Given the description of an element on the screen output the (x, y) to click on. 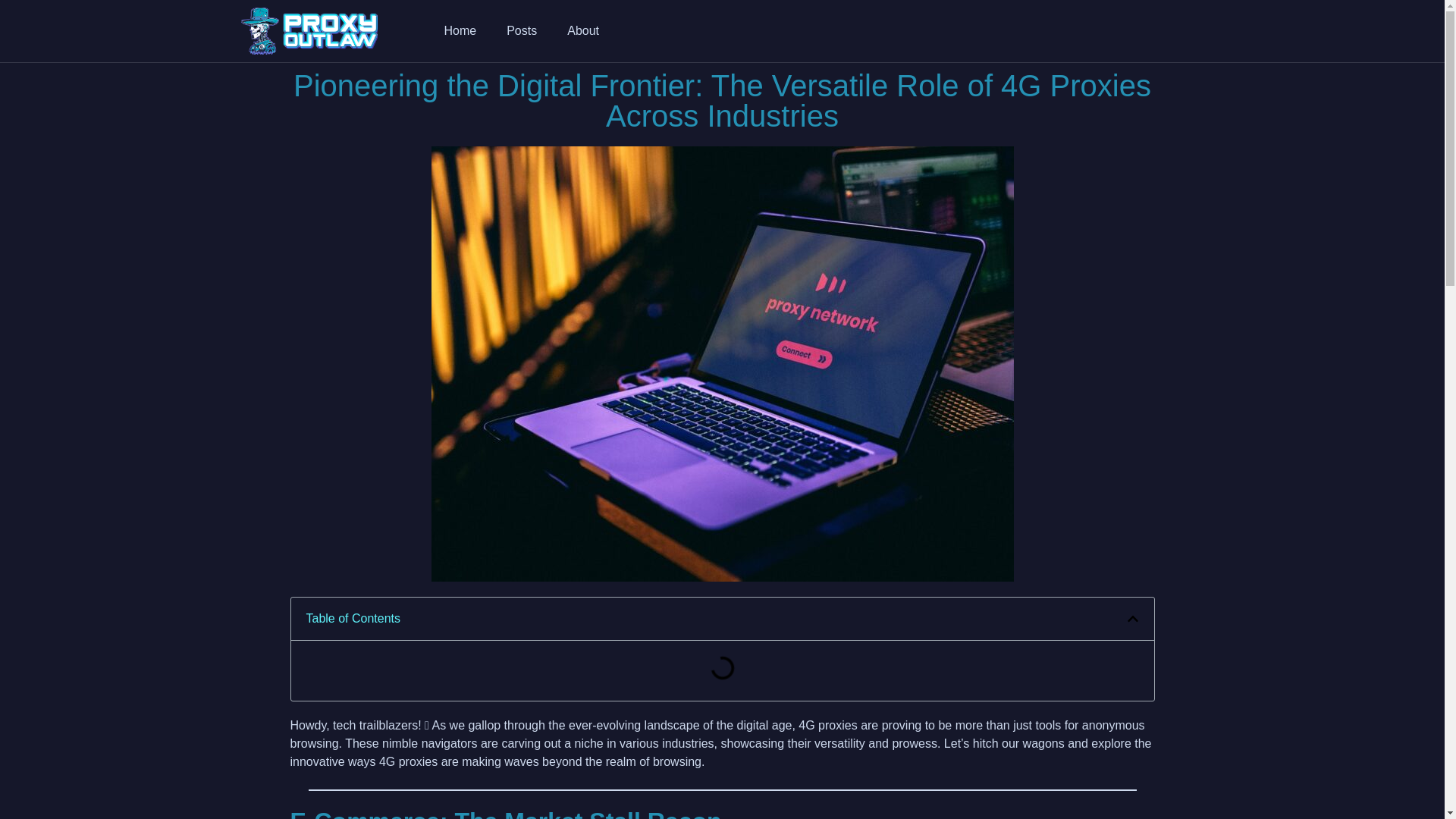
Home (460, 30)
About (582, 30)
Posts (521, 30)
